Given the description of an element on the screen output the (x, y) to click on. 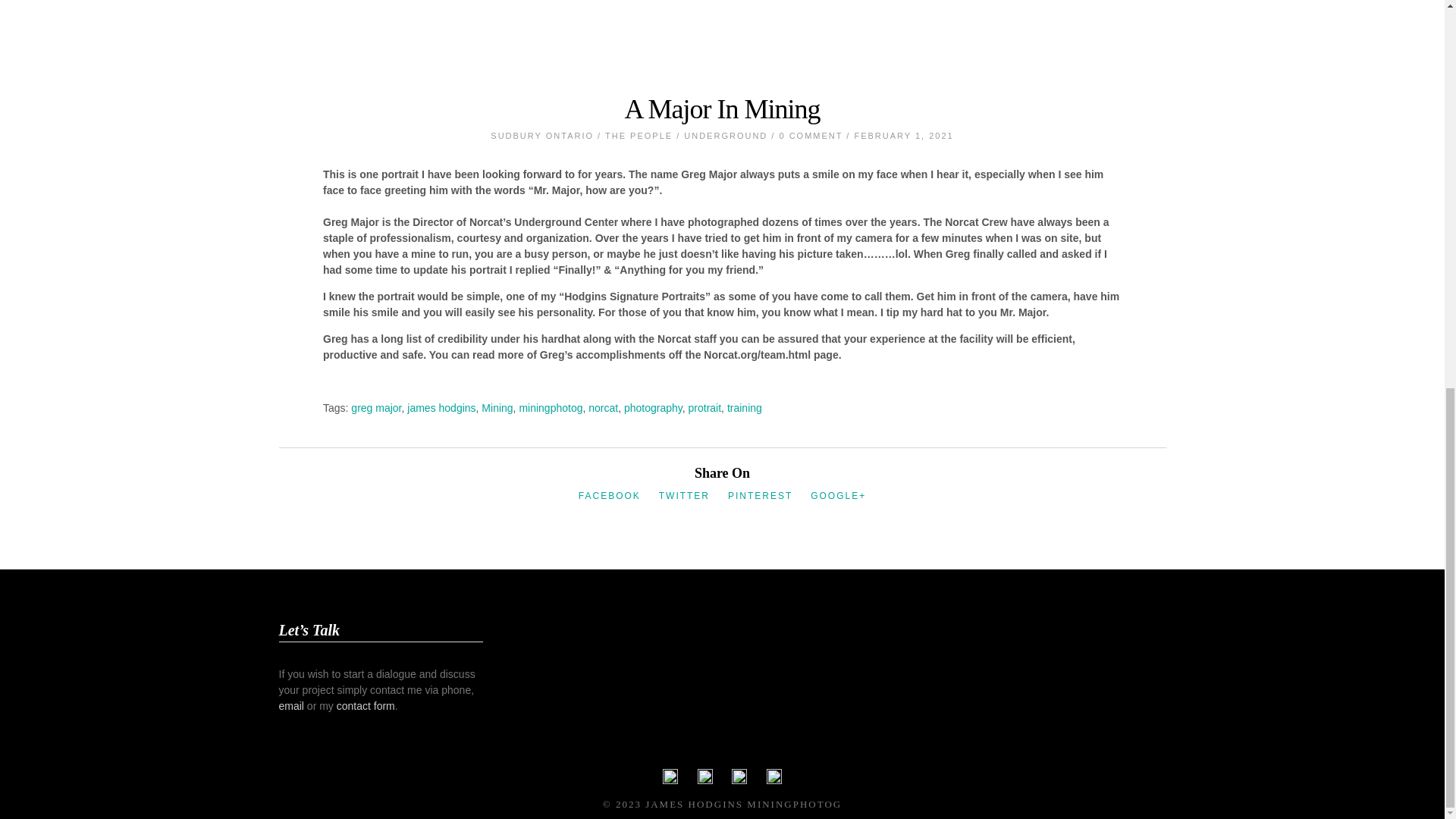
Linkedin (739, 779)
photography (653, 407)
THE PEOPLE (638, 135)
miningphotog (550, 407)
james hodgins (441, 407)
UNDERGROUND (725, 135)
Mining (496, 407)
greg major (375, 407)
A Major In Mining (722, 109)
SUDBURY ONTARIO (542, 135)
